Given the description of an element on the screen output the (x, y) to click on. 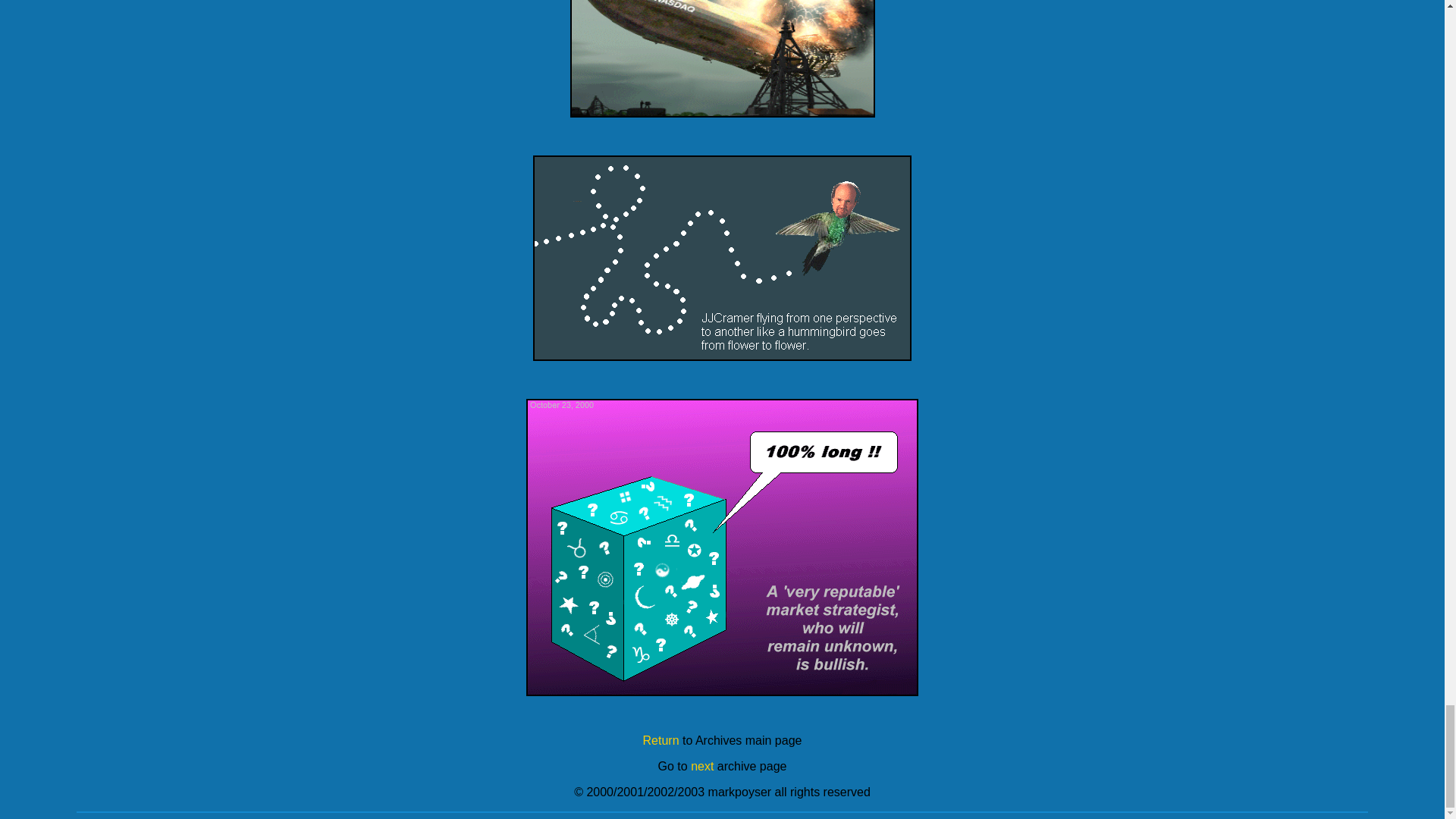
Return (661, 739)
next (701, 766)
